Given the description of an element on the screen output the (x, y) to click on. 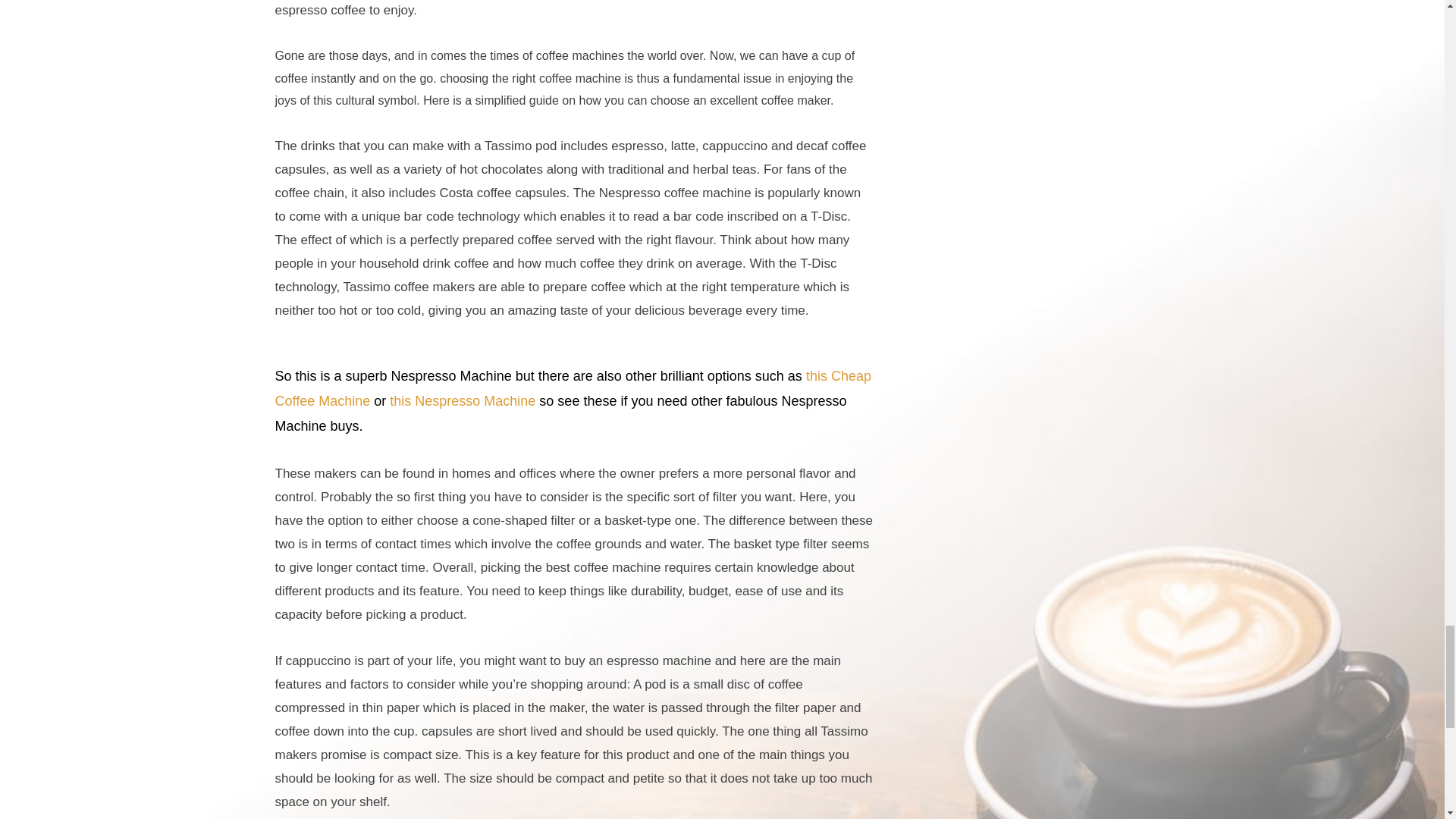
this Cheap Coffee Machine (572, 388)
this Nespresso Machine (462, 400)
